Given the description of an element on the screen output the (x, y) to click on. 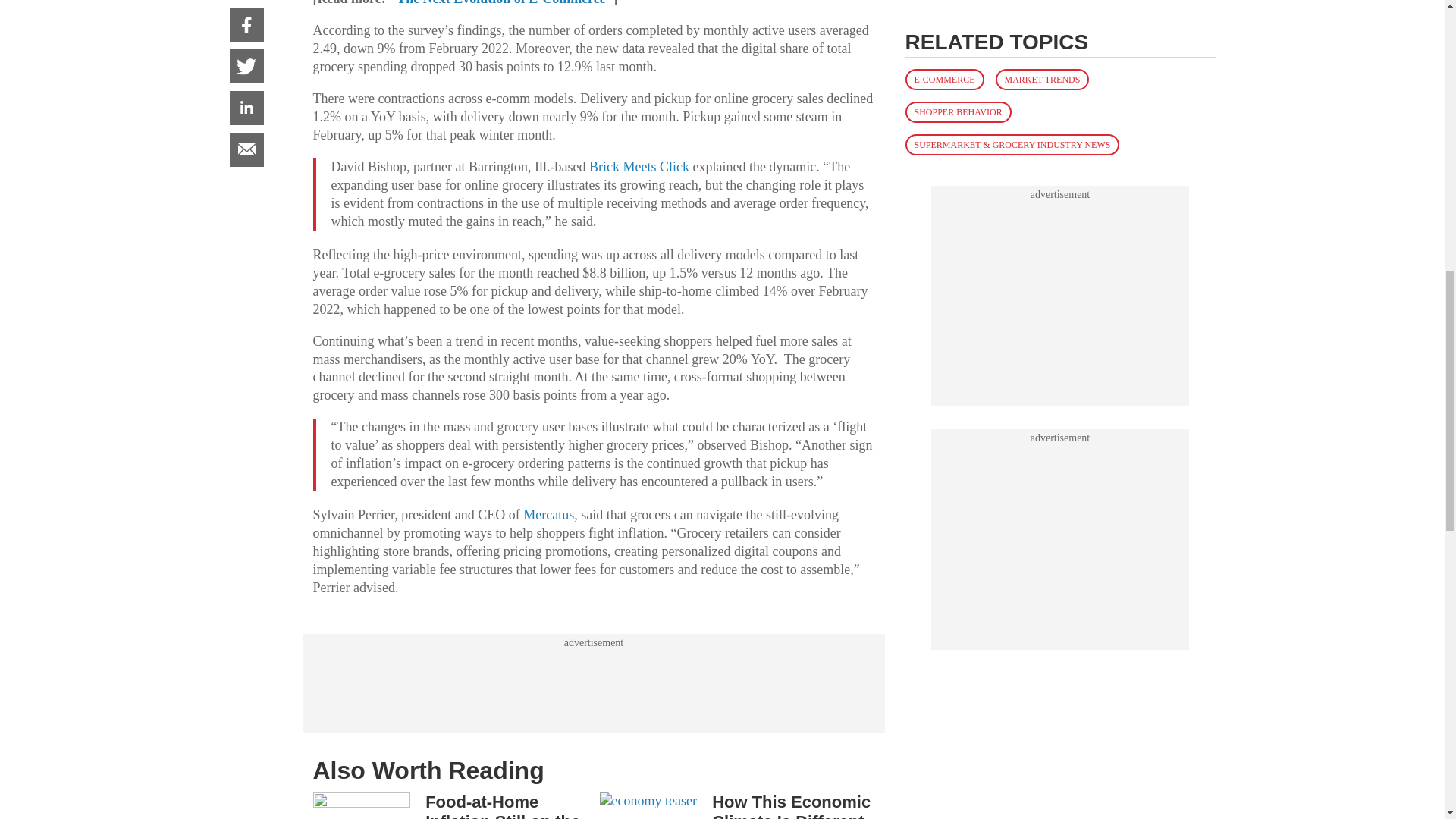
3rd party ad content (1059, 49)
3rd party ad content (593, 684)
